Given the description of an element on the screen output the (x, y) to click on. 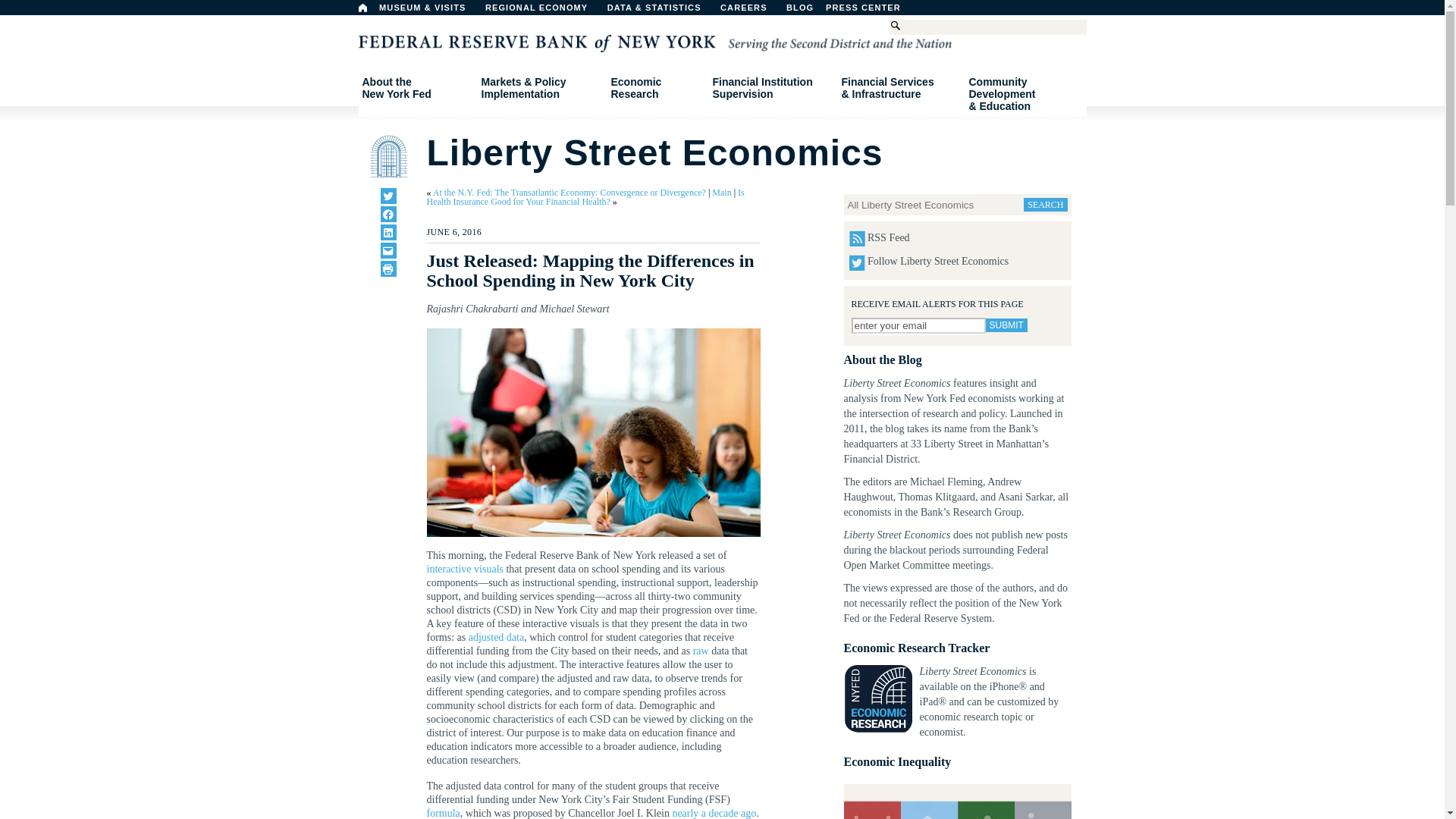
Submit (1006, 325)
CAREERS (751, 11)
Click to share on LinkedIn (388, 232)
Home (362, 8)
PRESS CENTER (870, 11)
REGIONAL ECONOMY (543, 11)
Click to share on Twitter (388, 195)
Click to share on Facebook (388, 213)
Click to print (388, 268)
Click to email a link to a friend (388, 250)
